Given the description of an element on the screen output the (x, y) to click on. 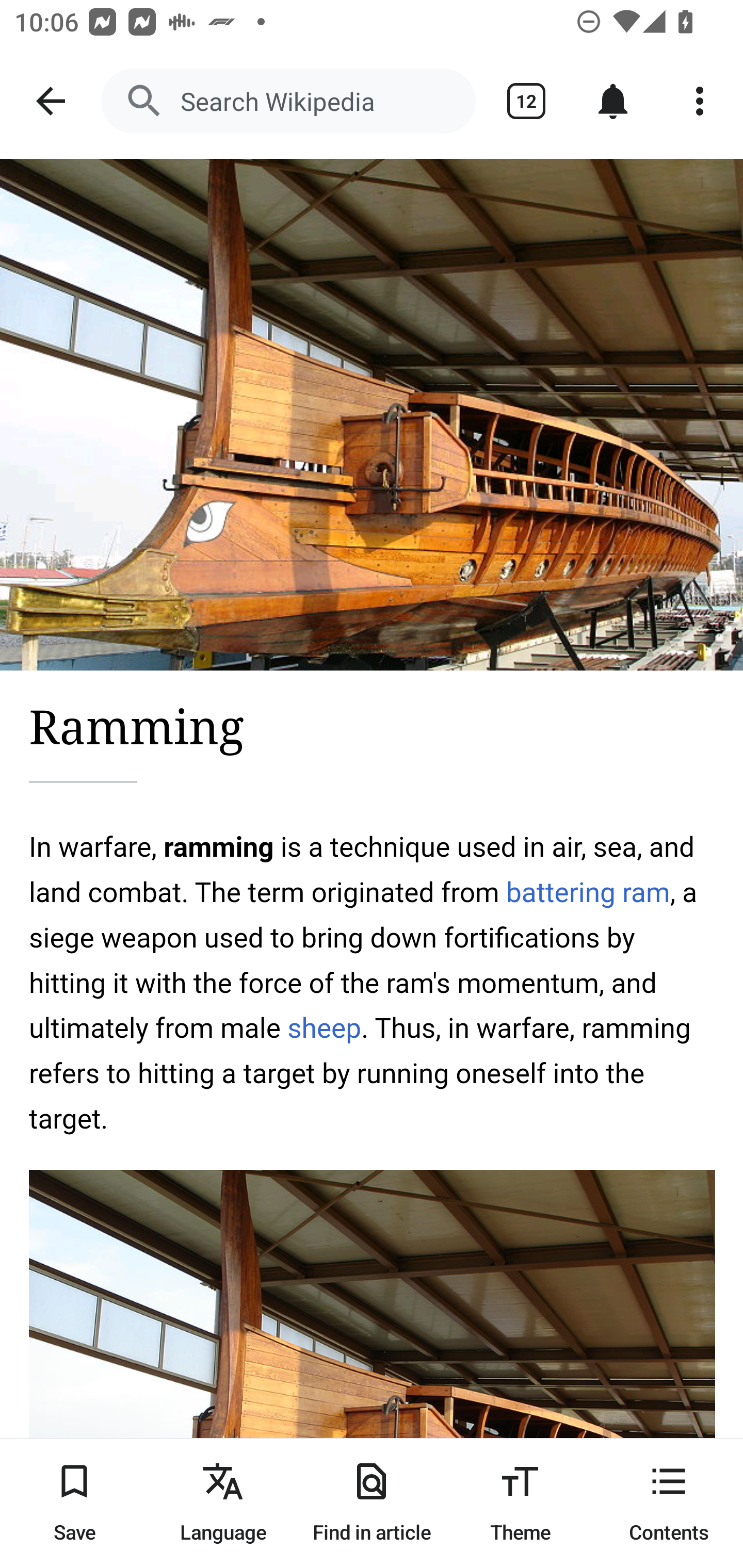
Show tabs 12 (525, 100)
Notifications (612, 100)
Navigate up (50, 101)
More options (699, 101)
Search Wikipedia (288, 100)
Image: Ramming (371, 414)
battering ram (588, 891)
sheep (324, 1027)
Save (74, 1502)
Language (222, 1502)
Find in article (371, 1502)
Theme (519, 1502)
Contents (668, 1502)
